Given the description of an element on the screen output the (x, y) to click on. 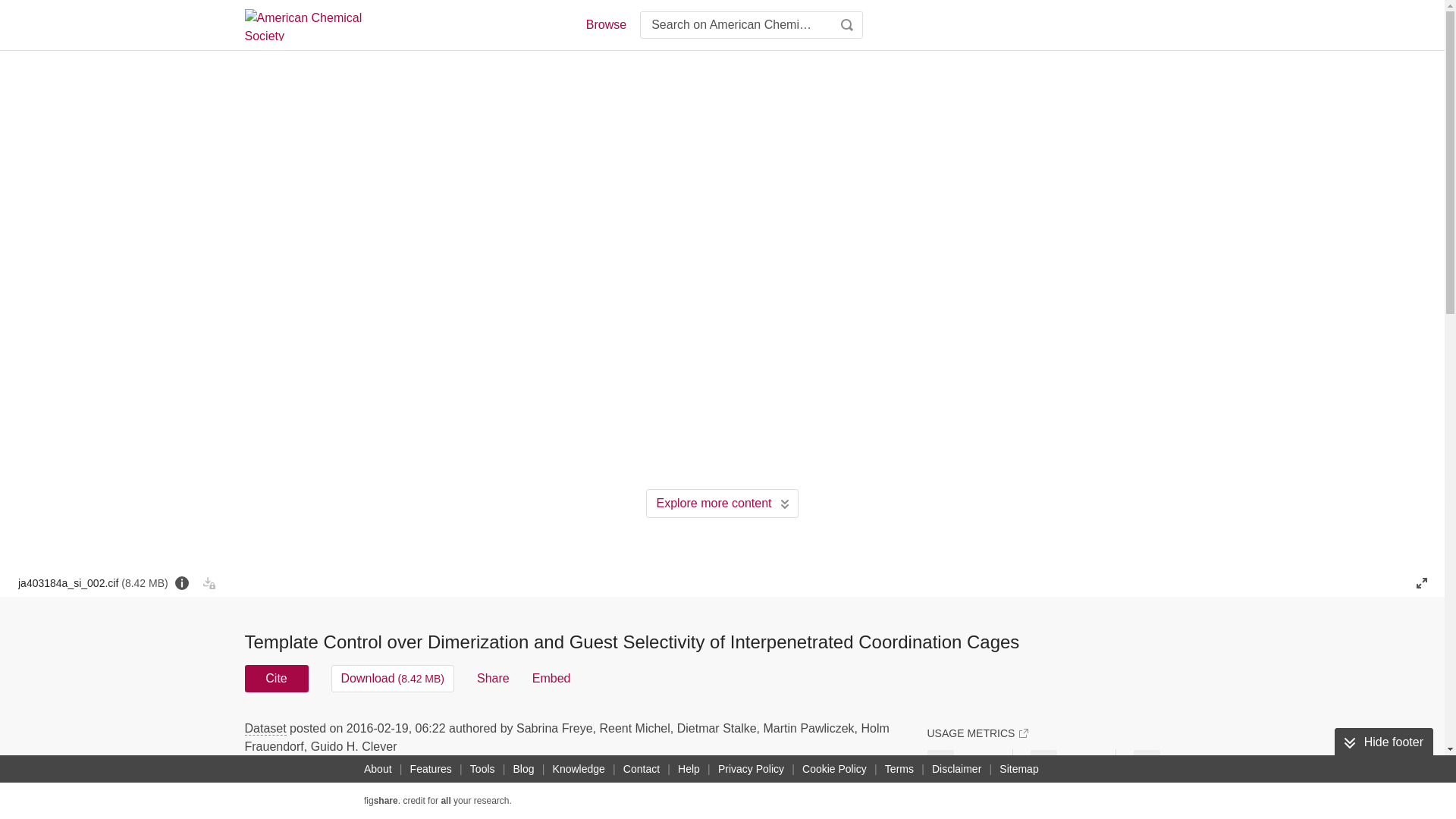
Share (493, 678)
Browse (605, 24)
USAGE METRICS (976, 732)
Cite (275, 678)
Embed (551, 678)
Explore more content (721, 502)
